Given the description of an element on the screen output the (x, y) to click on. 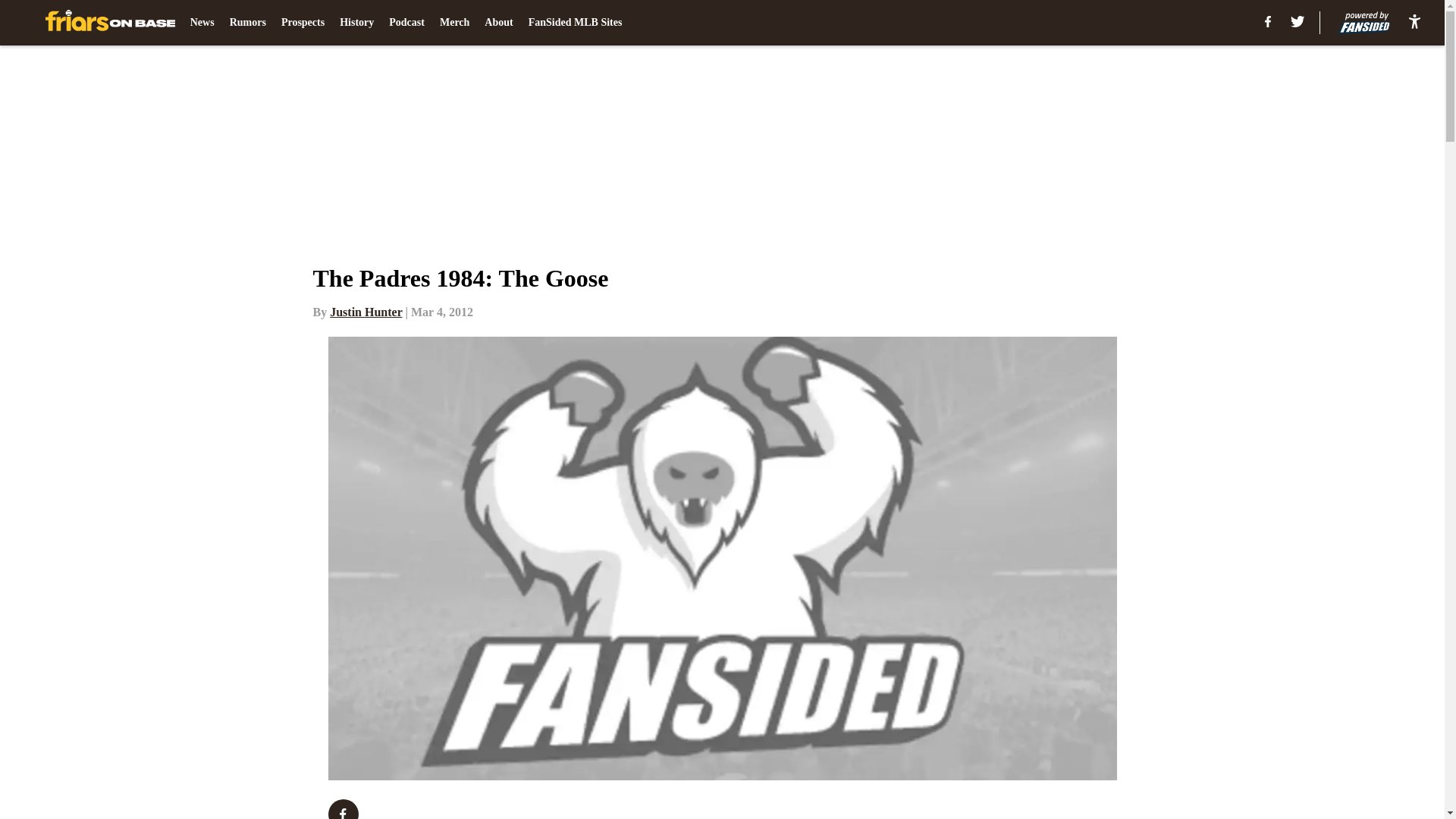
History (356, 22)
Merch (453, 22)
Rumors (248, 22)
About (498, 22)
FanSided MLB Sites (575, 22)
News (202, 22)
Justin Hunter (365, 311)
Podcast (406, 22)
Prospects (302, 22)
